Given the description of an element on the screen output the (x, y) to click on. 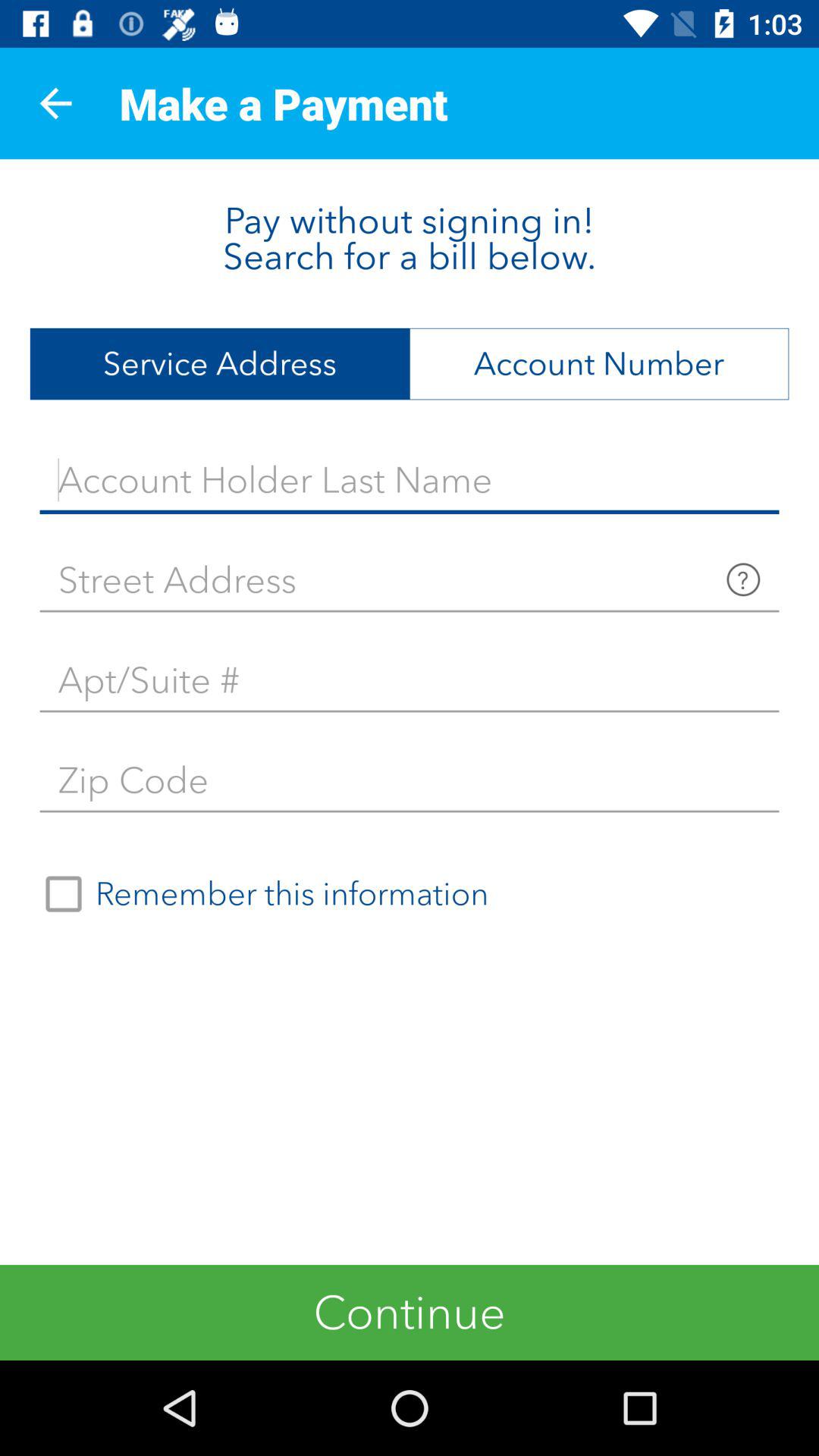
open the account number icon (598, 363)
